Given the description of an element on the screen output the (x, y) to click on. 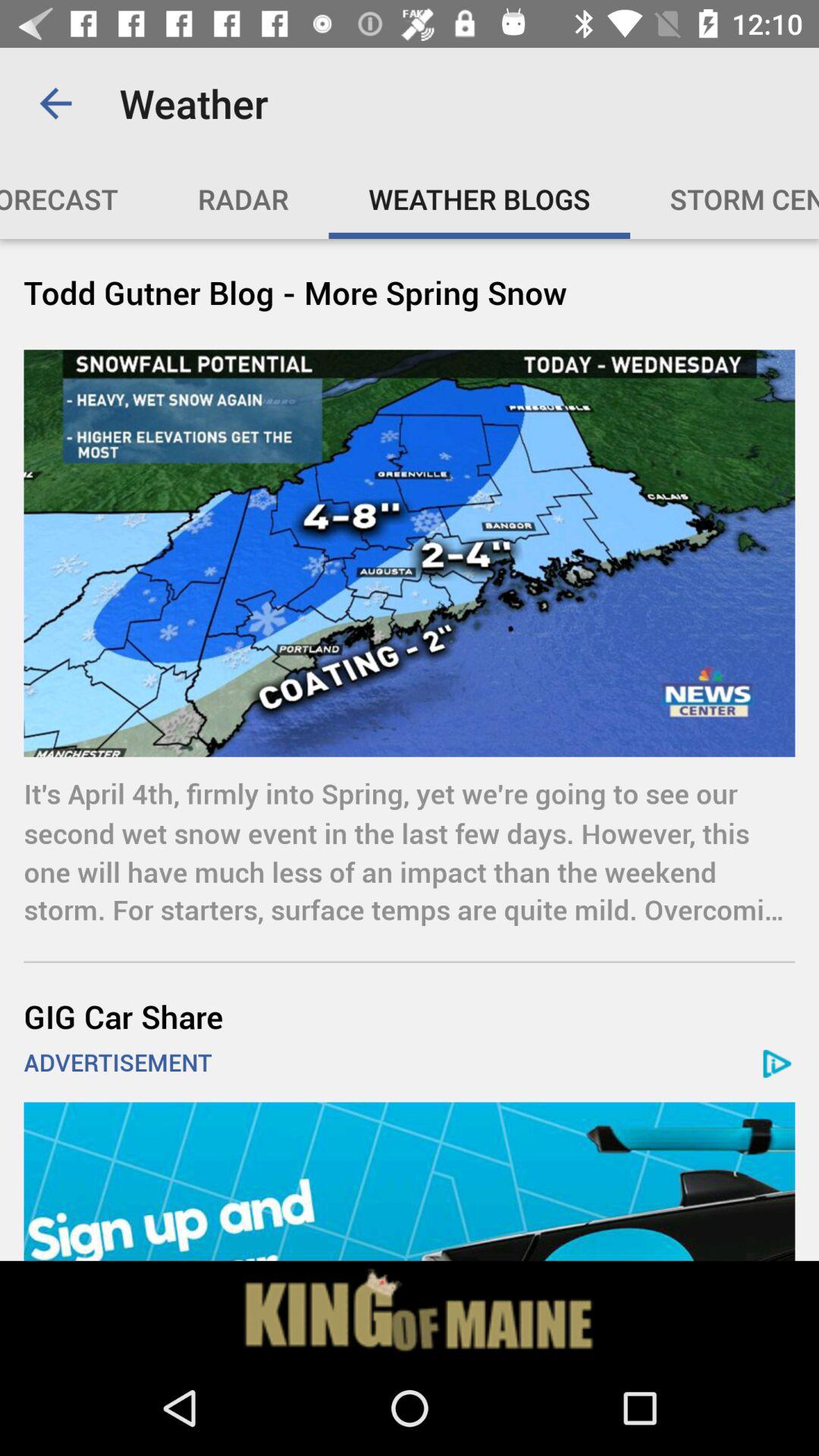
click the advertisement (409, 1310)
